Given the description of an element on the screen output the (x, y) to click on. 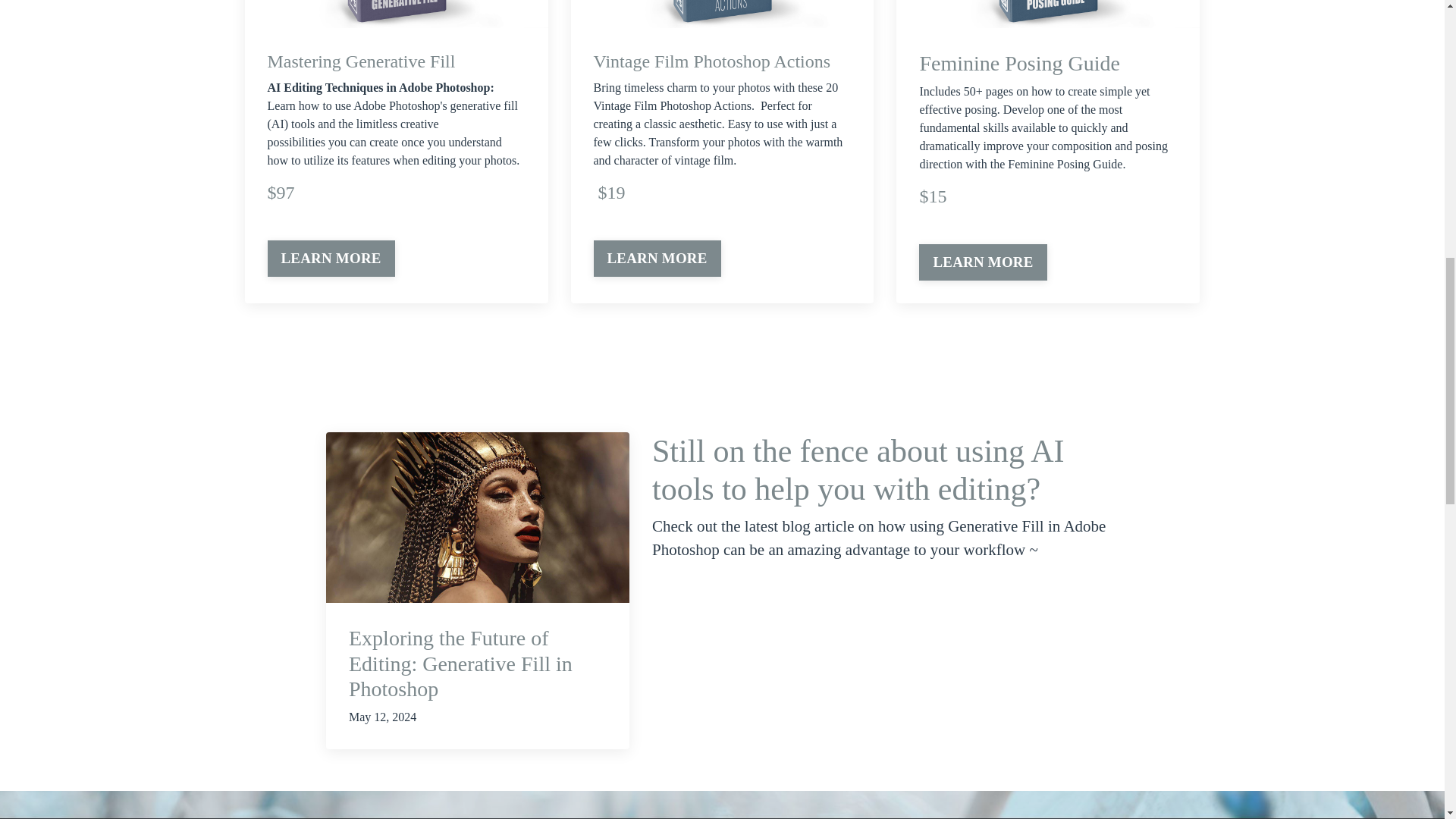
LEARN MORE (656, 258)
LEARN MORE (982, 262)
LEARN MORE (330, 258)
